Given the description of an element on the screen output the (x, y) to click on. 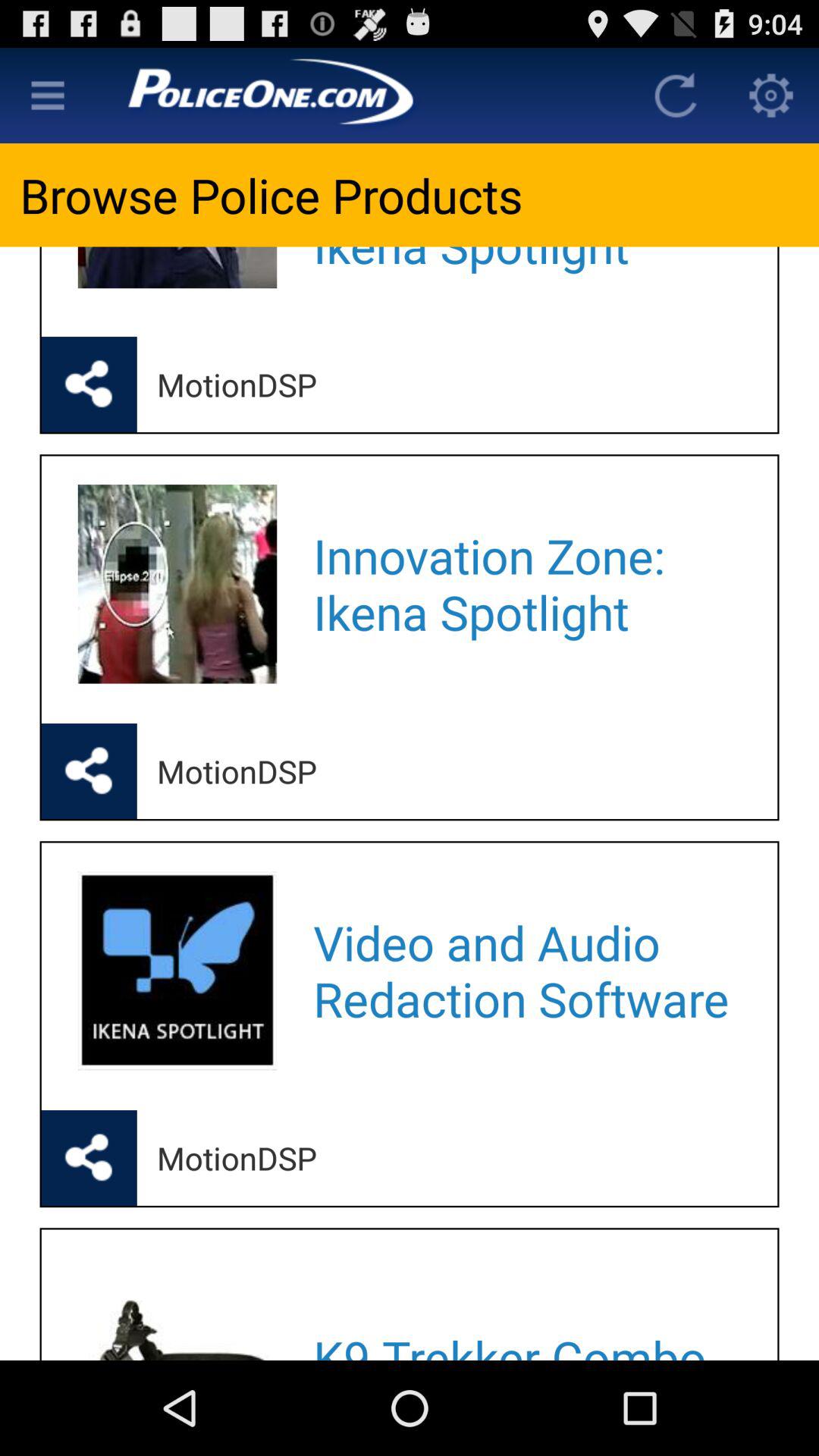
toggle a option (47, 95)
